Given the description of an element on the screen output the (x, y) to click on. 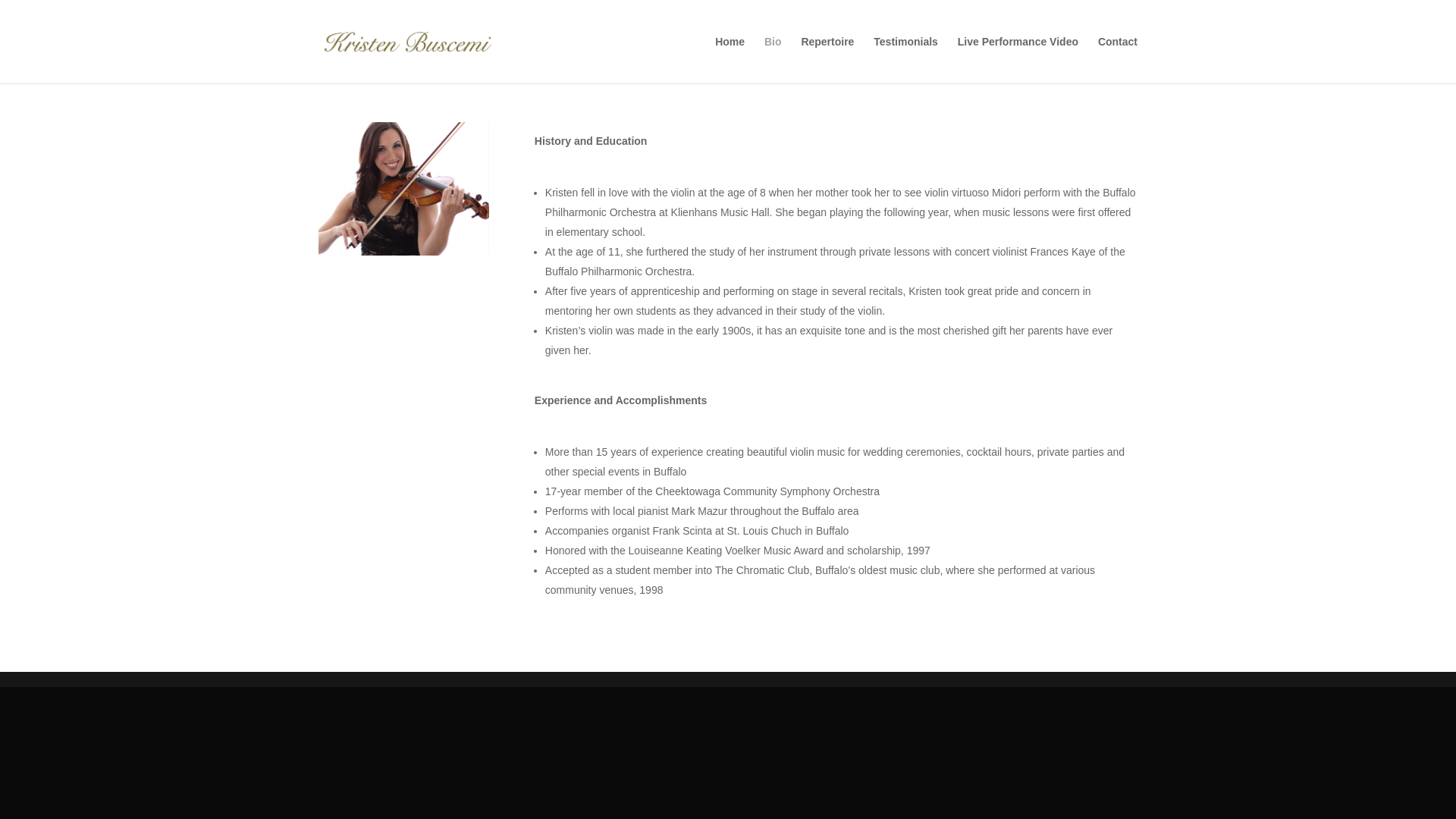
Repertoire (826, 59)
Testimonials (905, 59)
Live Performance Video (1018, 59)
